Given the description of an element on the screen output the (x, y) to click on. 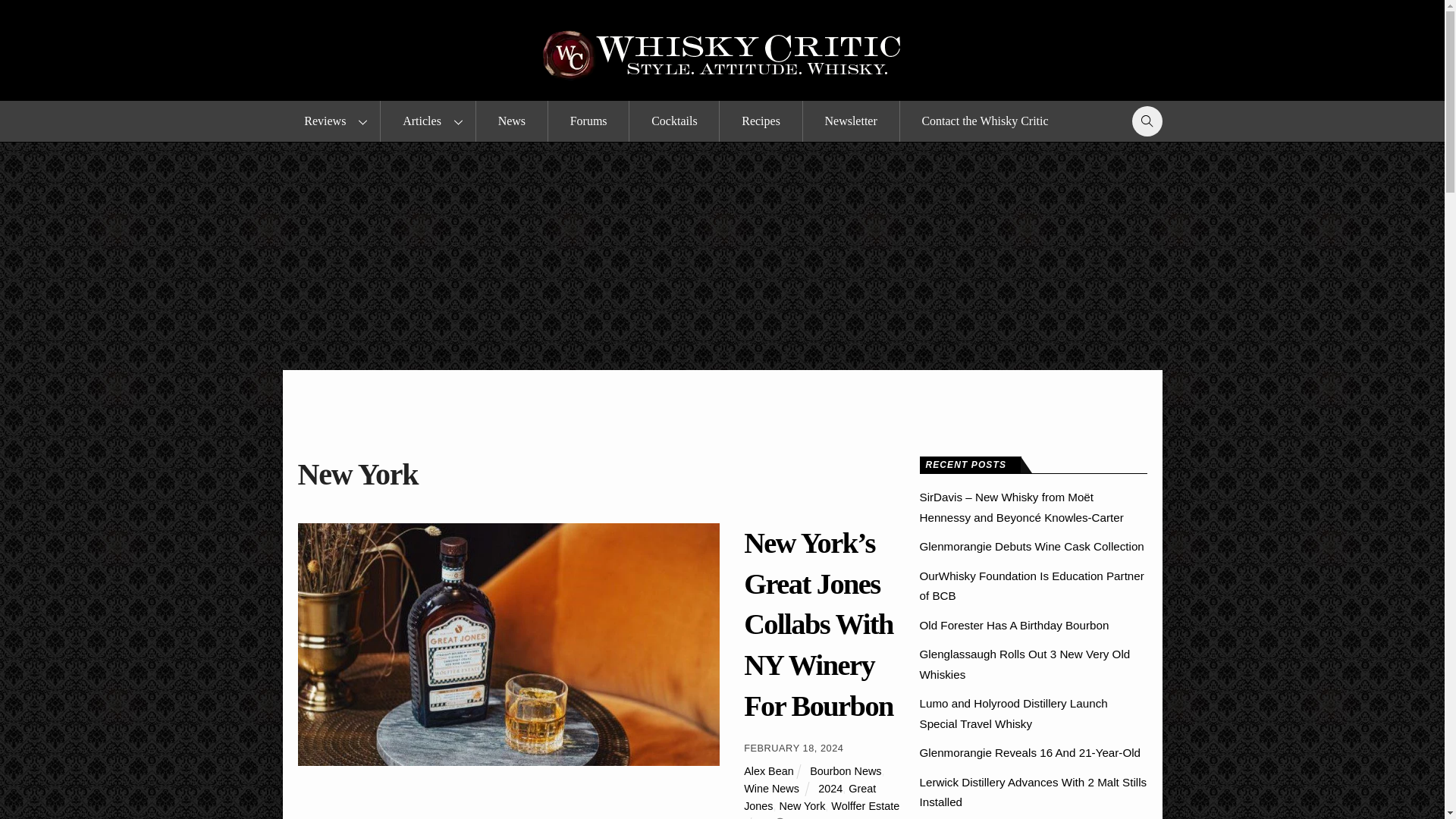
Great-Jones (508, 644)
Bourbon News (844, 770)
New York (801, 806)
Great Jones (810, 797)
News (511, 120)
2024 (830, 788)
Search (1142, 121)
Contact the Whisky Critic (984, 120)
Cocktails (673, 120)
